Given the description of an element on the screen output the (x, y) to click on. 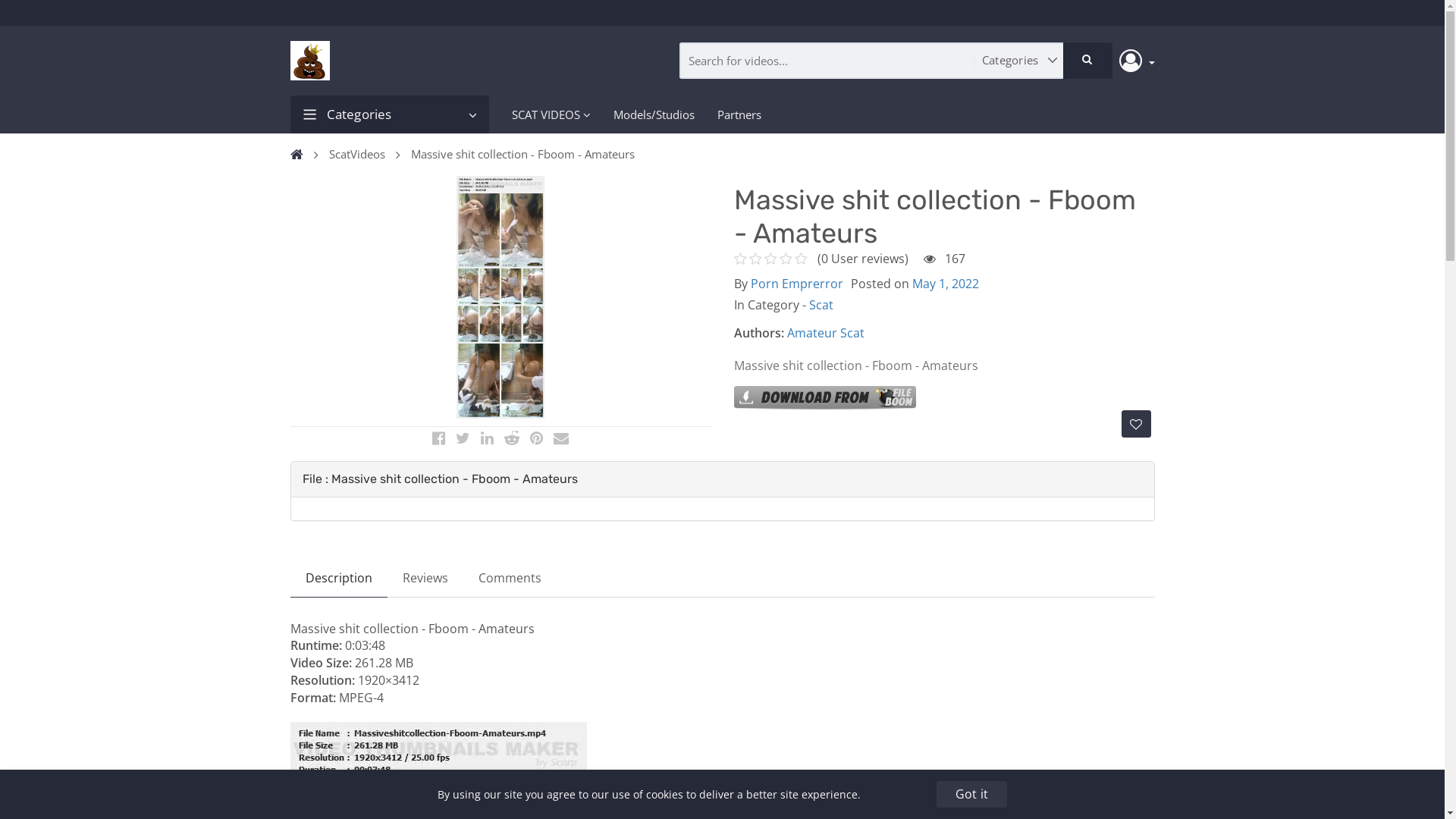
Description Element type: text (337, 577)
File : Massive shit collection - Fboom - Amateurs Element type: text (439, 478)
Amateur Scat Element type: text (825, 332)
Comments Element type: text (508, 577)
Massive shit collection - Fboom - Amateurs Element type: text (525, 154)
Porn Emprerror Element type: text (796, 283)
Reviews Element type: text (424, 577)
ScatVideos Element type: text (359, 154)
Partners Element type: text (738, 114)
Got it Element type: text (971, 794)
SCAT VIDEOS Element type: text (551, 114)
Scat Element type: text (820, 304)
May 1, 2022 Element type: text (944, 283)
Models/Studios Element type: text (654, 114)
